Given the description of an element on the screen output the (x, y) to click on. 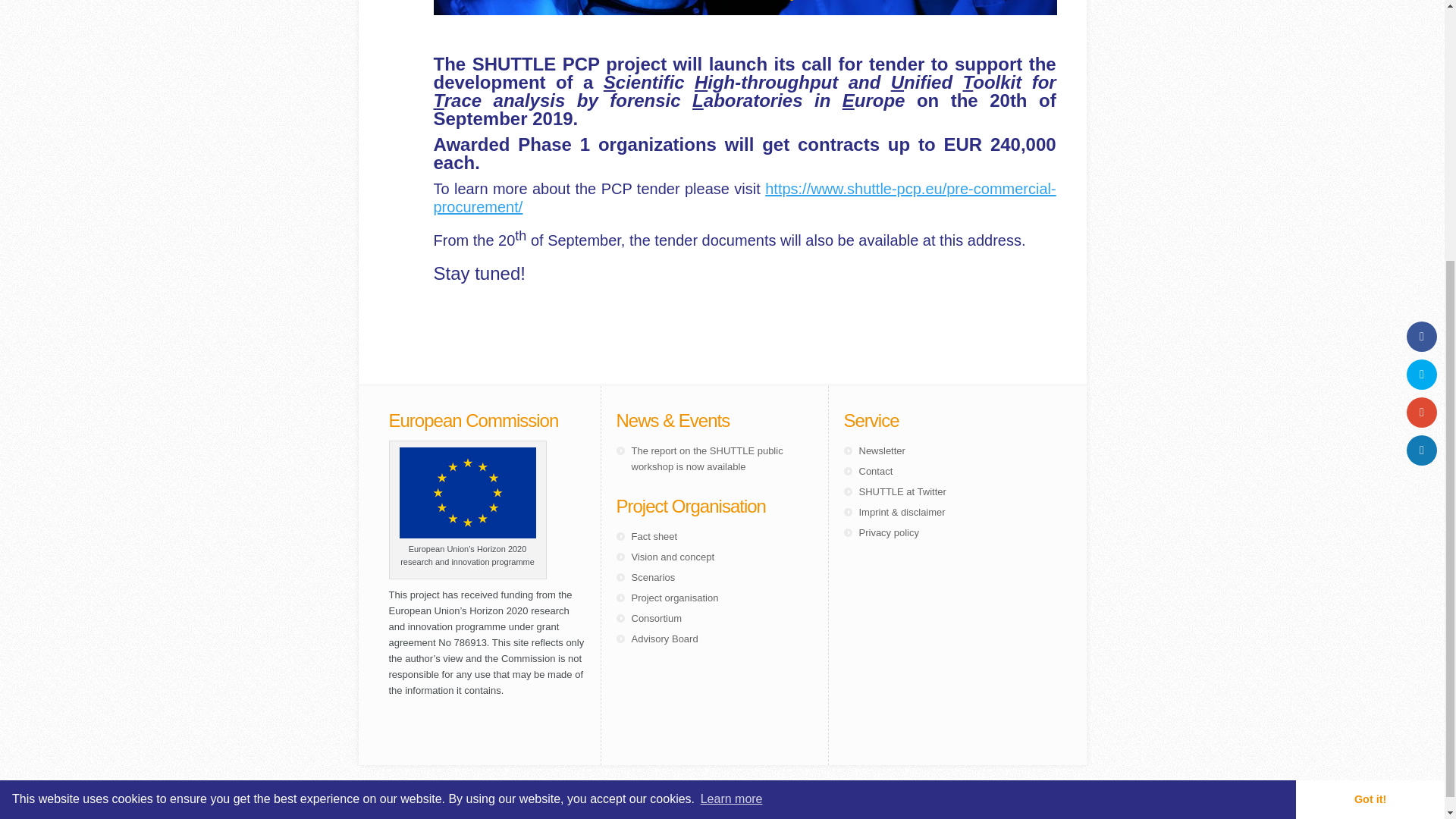
Learn more (730, 417)
Pre-commercial procurement (745, 201)
